Given the description of an element on the screen output the (x, y) to click on. 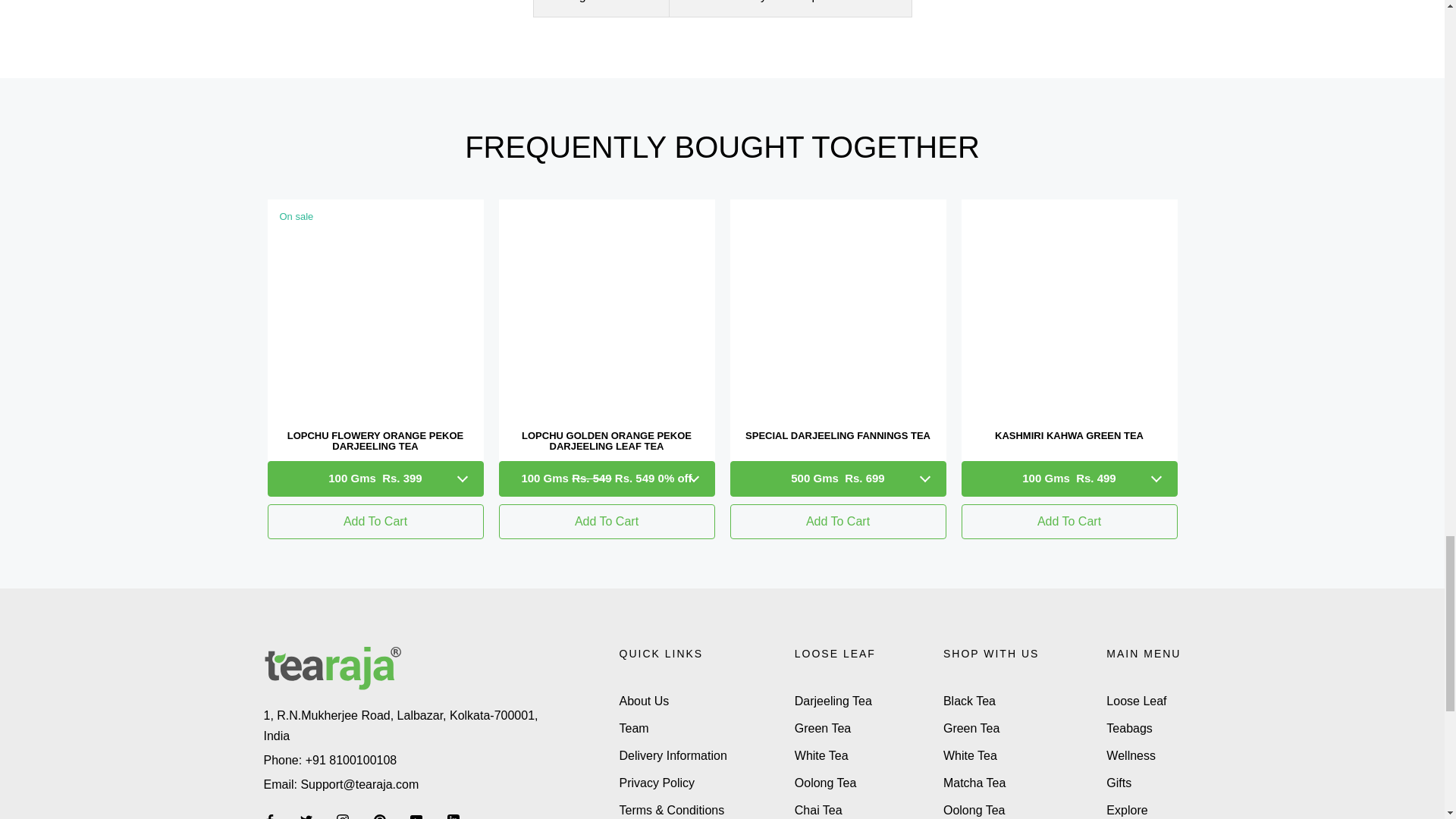
Add to cart (374, 521)
Add to cart (606, 521)
Add to cart (836, 521)
Add to cart (1068, 521)
